Given the description of an element on the screen output the (x, y) to click on. 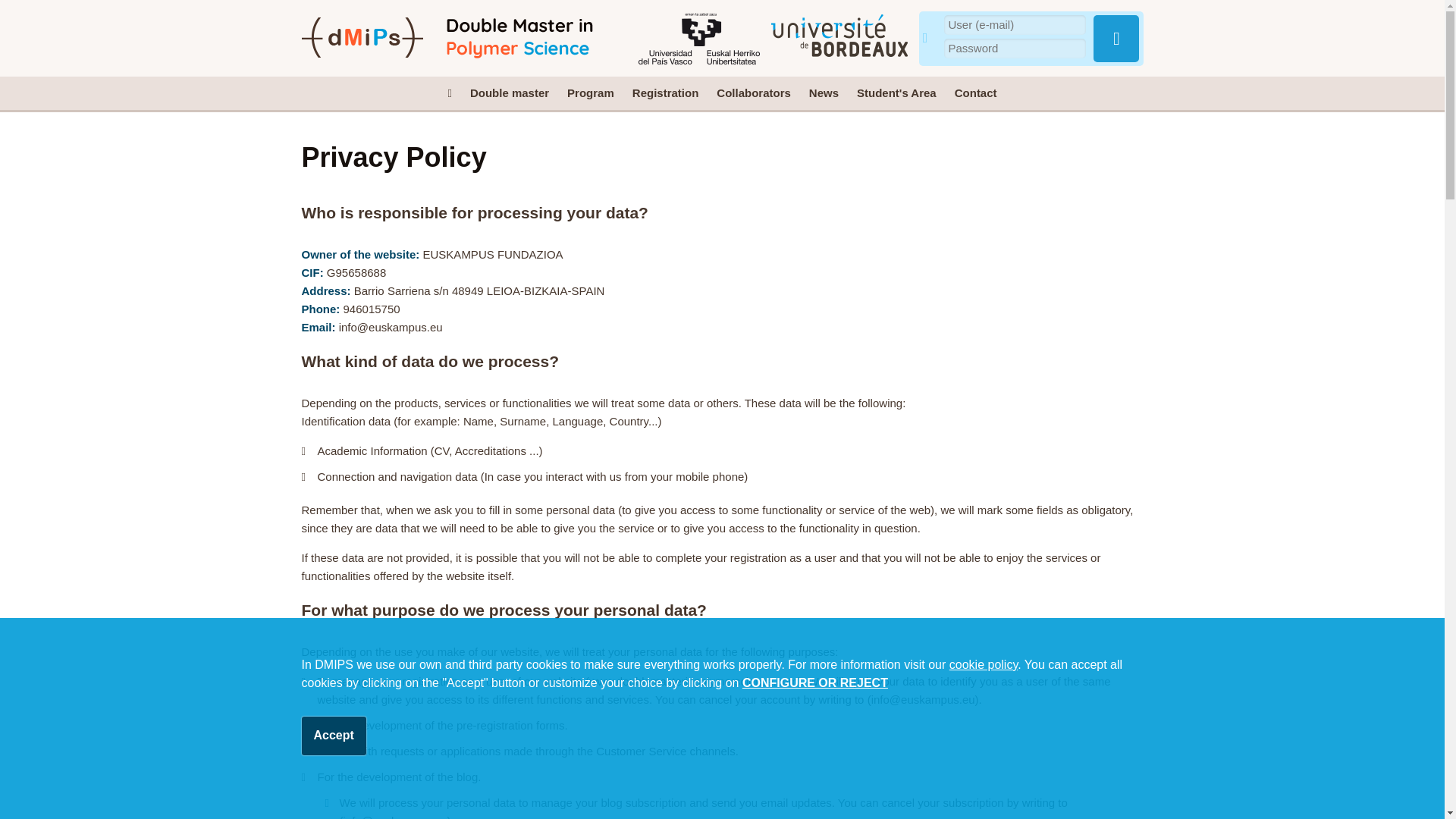
cookie policy (983, 664)
Contact (975, 92)
News (823, 92)
Double master (509, 92)
Collaborators (753, 92)
Accept (333, 735)
CONFIGURE OR REJECT (815, 682)
Registration (665, 92)
Student's Area (895, 92)
Program (590, 92)
